Given the description of an element on the screen output the (x, y) to click on. 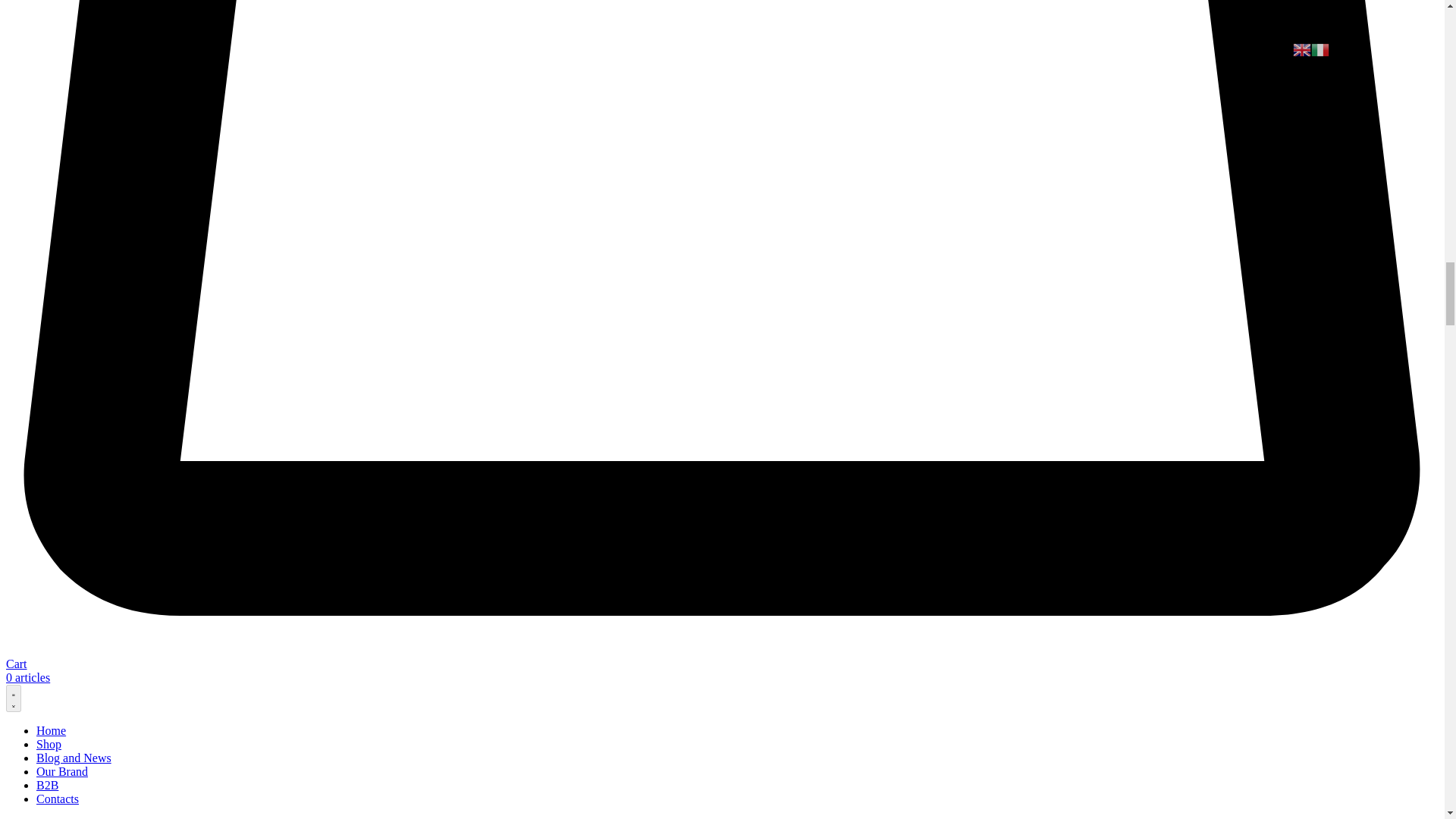
B2B (47, 784)
Blog and News (74, 757)
Our Brand (61, 771)
Home (50, 730)
Shop (48, 744)
Contacts (57, 798)
